Given the description of an element on the screen output the (x, y) to click on. 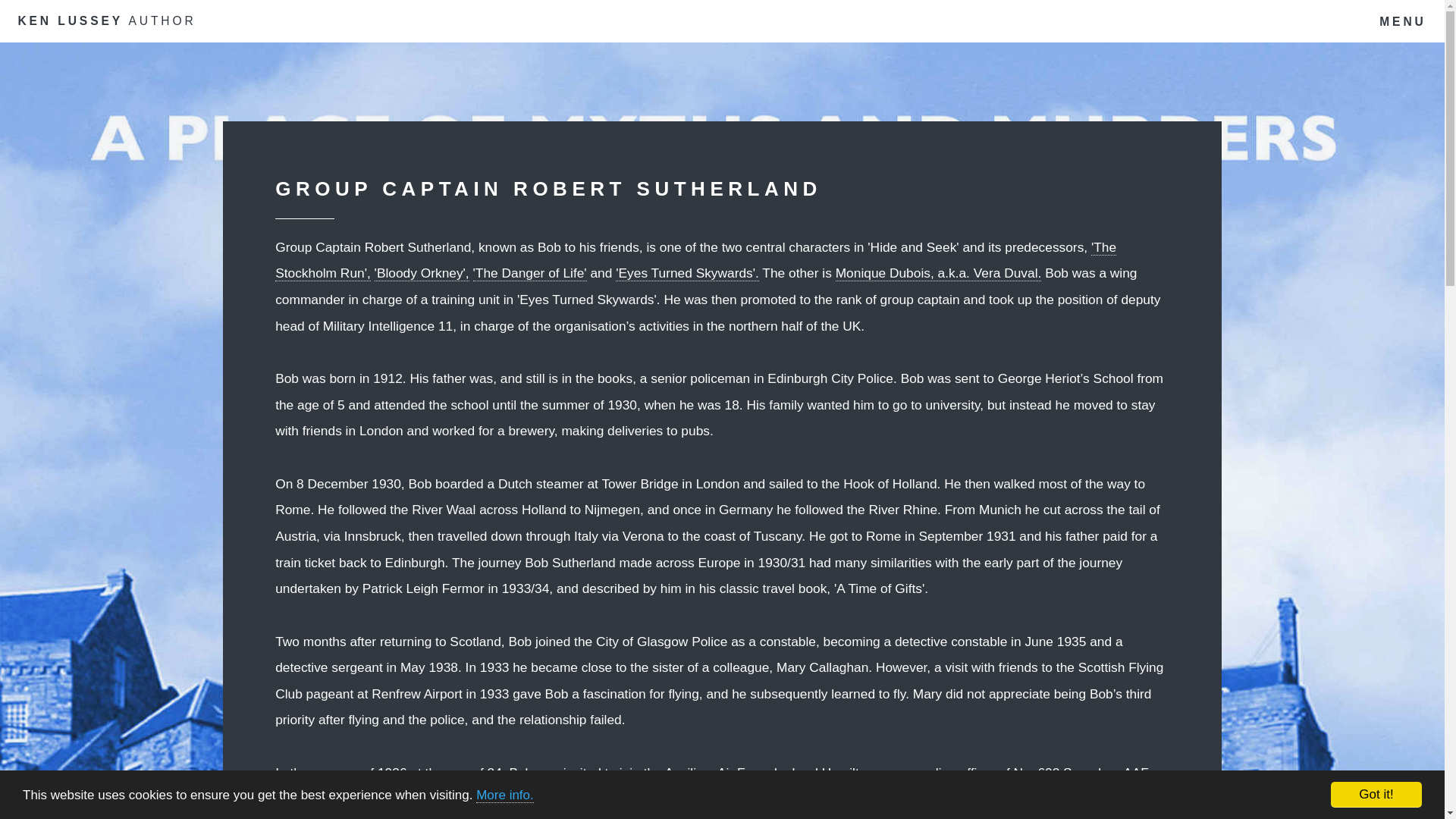
'Bloody Orkney', (421, 273)
'Eyes Turned Skywards'. (686, 273)
KEN LUSSEY AUTHOR (106, 21)
MENU (1403, 21)
'The Danger of Life' (529, 273)
Monique Dubois, a.k.a. Vera Duval. (938, 273)
'The Stockholm Run', (695, 260)
